Given the description of an element on the screen output the (x, y) to click on. 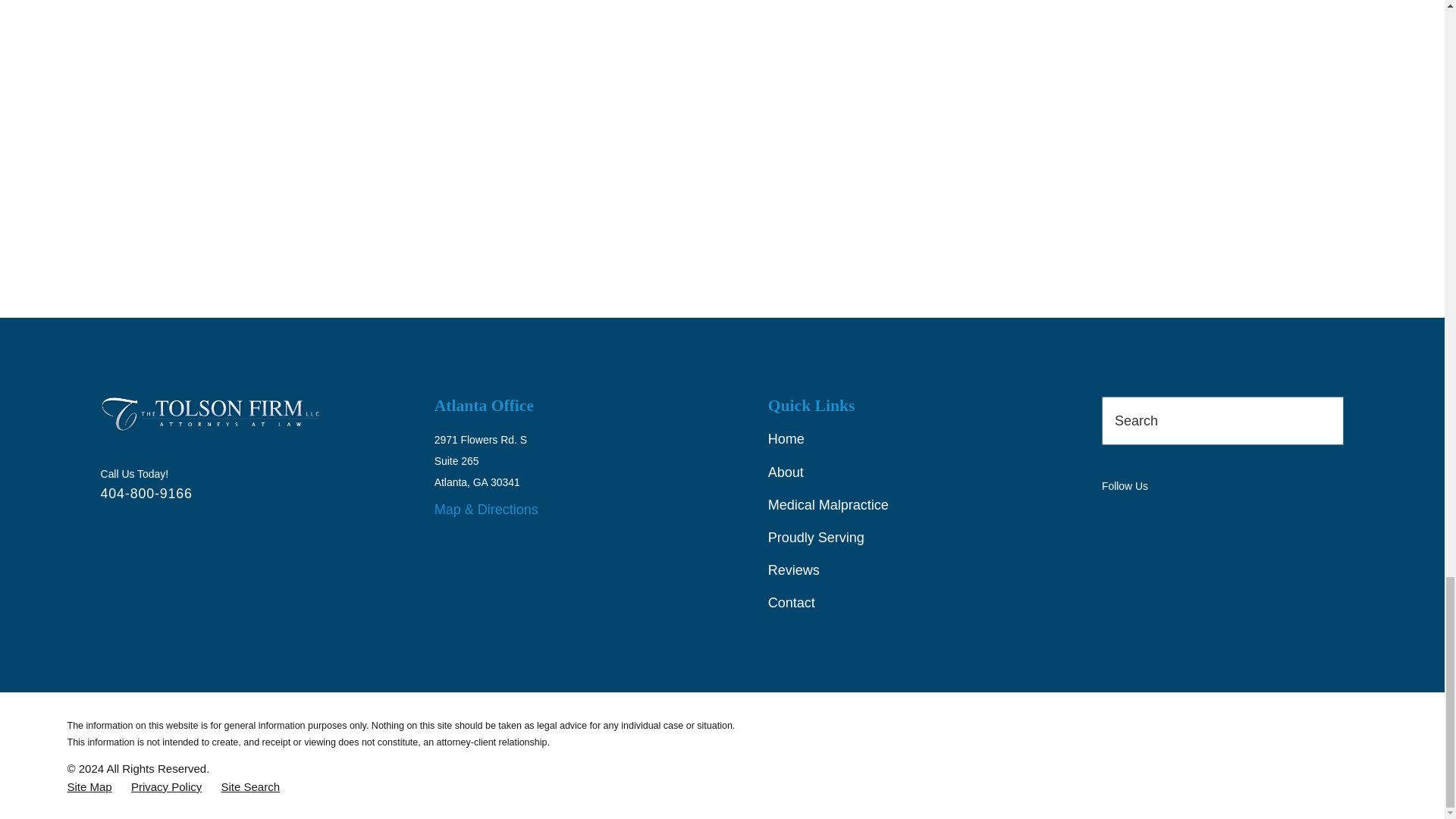
Google Business Profile (1111, 516)
Facebook (1154, 516)
Search Our Site (1323, 420)
LinkedIn (1198, 516)
Yelp (1242, 516)
Home (209, 414)
